Given the description of an element on the screen output the (x, y) to click on. 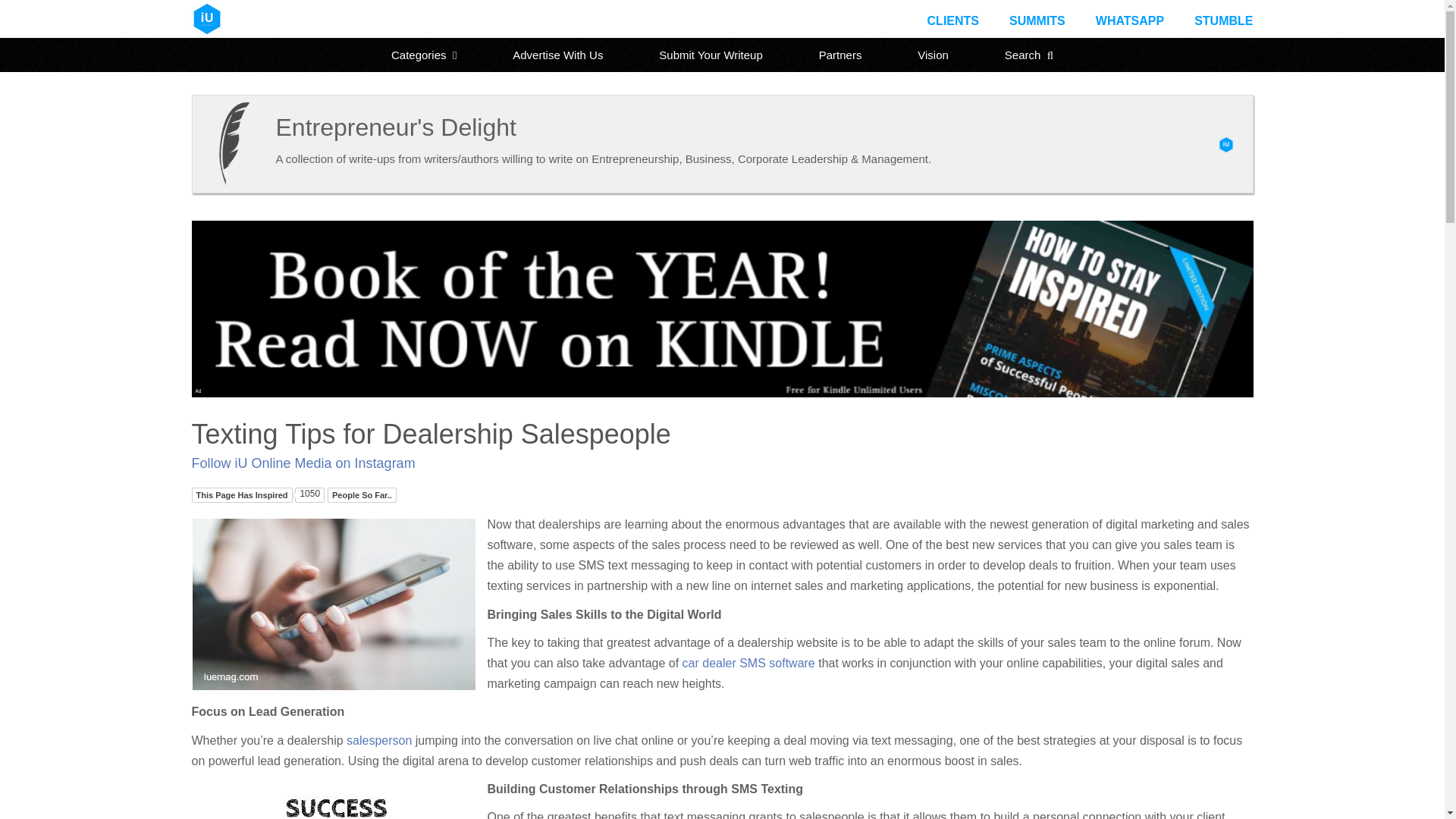
Follow iU Online Media on Instagram (302, 462)
salesperson (379, 739)
STUMBLE (1222, 20)
WHATSAPP (1129, 20)
car dealer SMS software (748, 662)
CLIENTS (952, 20)
Partners (840, 55)
Categories   (424, 54)
Submit Your Writeup (710, 55)
SUMMITS (1037, 20)
Vision (933, 55)
Search   (1029, 55)
Advertise With Us (557, 55)
